Given the description of an element on the screen output the (x, y) to click on. 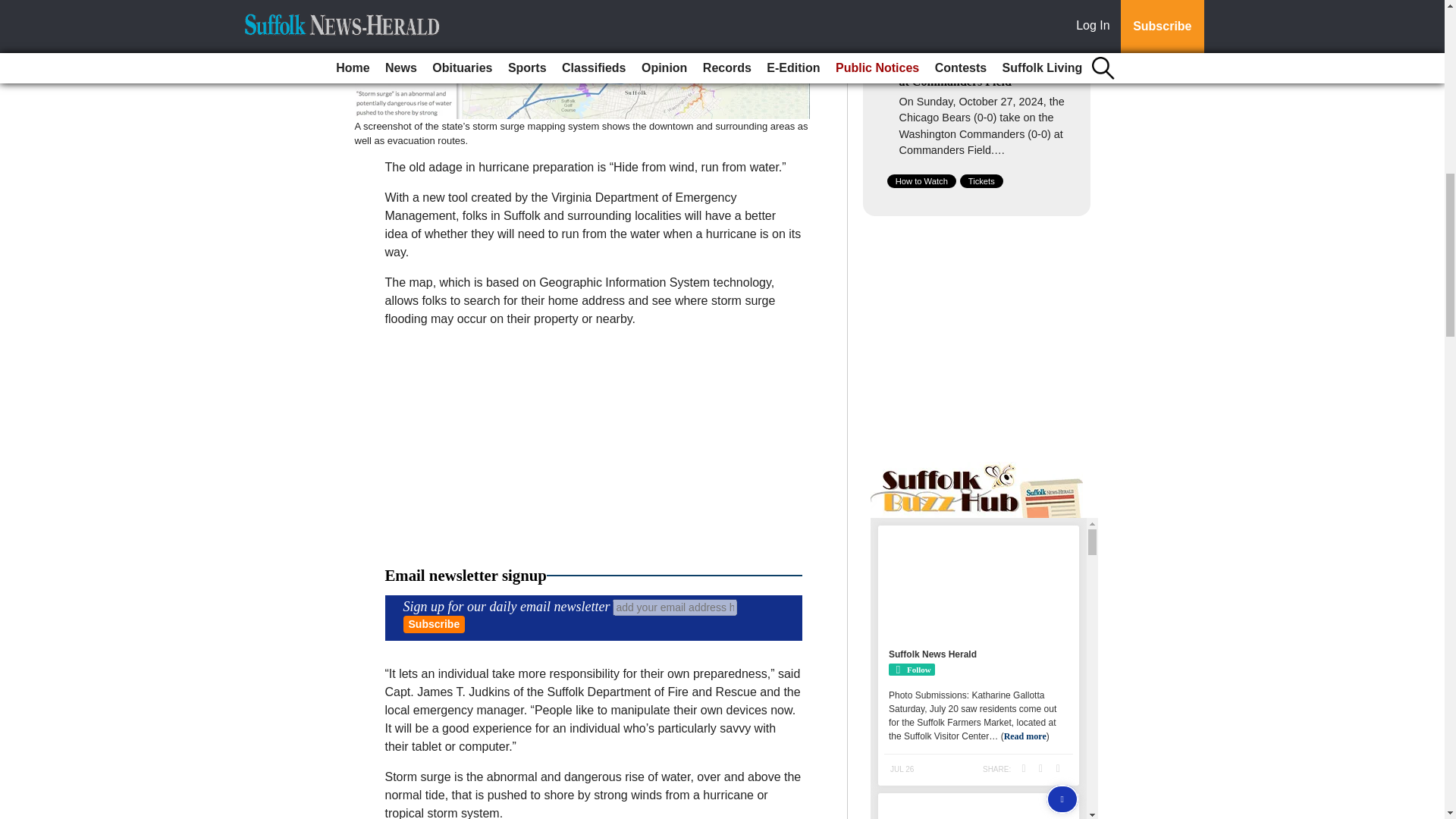
Tickets (981, 181)
Subscribe (434, 624)
How to Watch (921, 181)
Subscribe (434, 624)
